Given the description of an element on the screen output the (x, y) to click on. 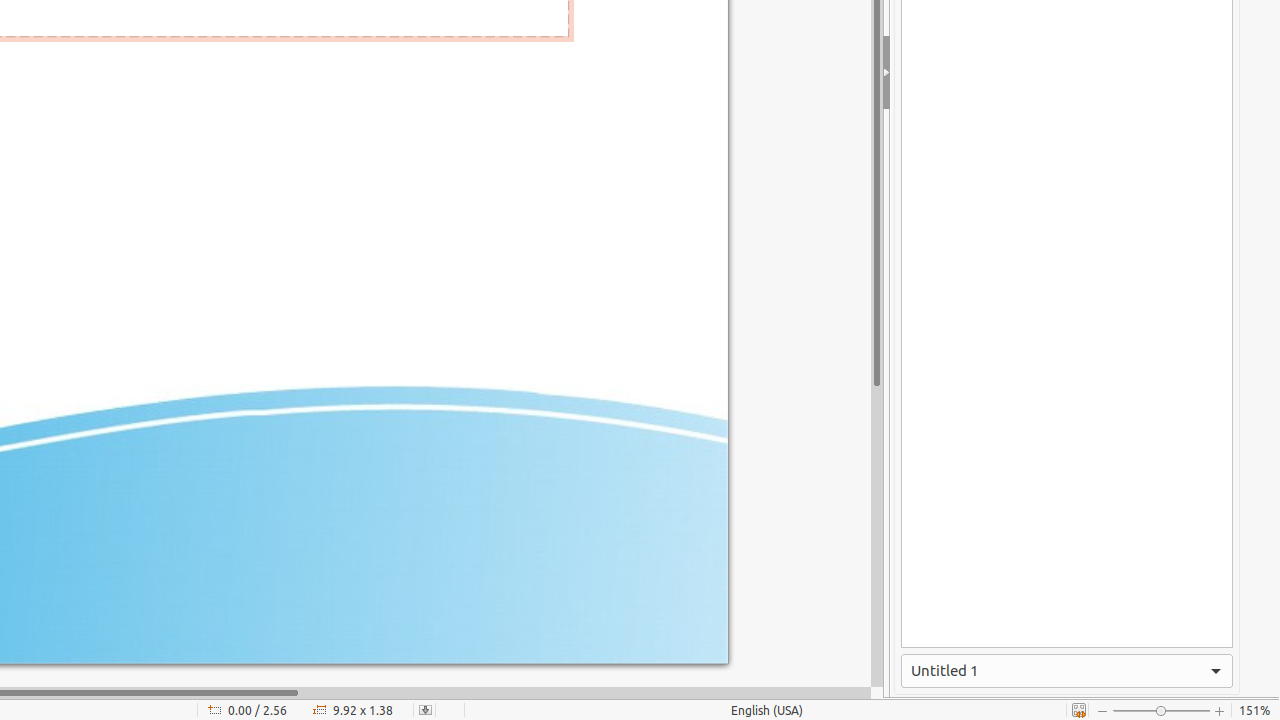
Active Window Element type: combo-box (1067, 671)
